Given the description of an element on the screen output the (x, y) to click on. 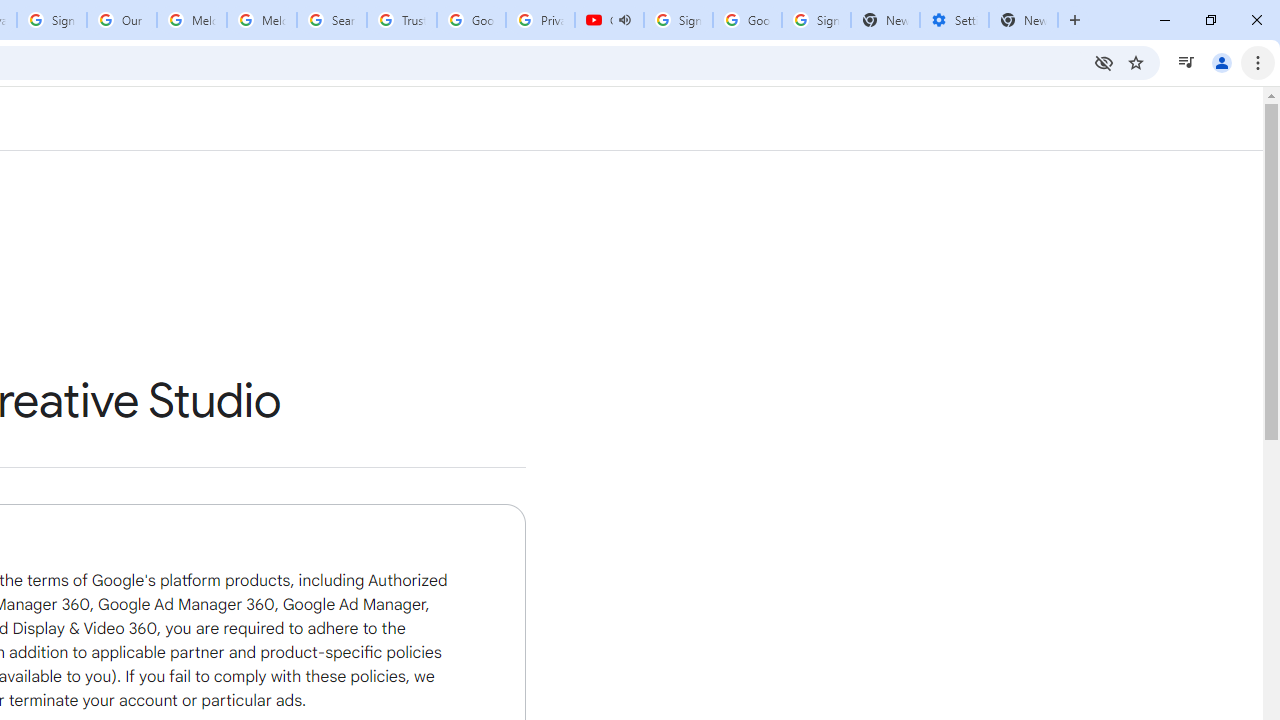
Sign in - Google Accounts (816, 20)
New Tab (1023, 20)
Google Ads - Sign in (470, 20)
Search our Doodle Library Collection - Google Doodles (332, 20)
Sign in - Google Accounts (677, 20)
